Given the description of an element on the screen output the (x, y) to click on. 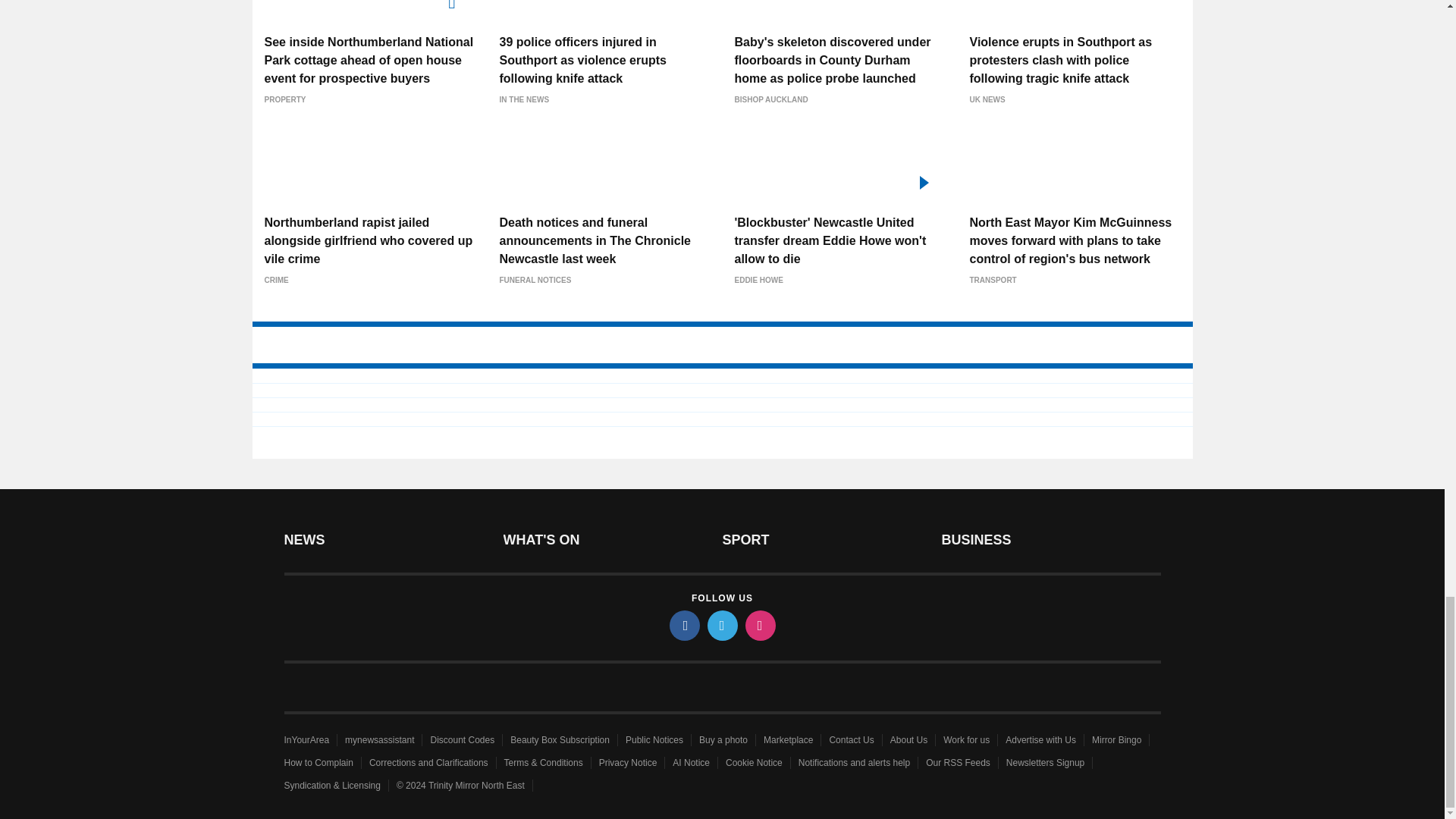
twitter (721, 625)
instagram (759, 625)
facebook (683, 625)
